Given the description of an element on the screen output the (x, y) to click on. 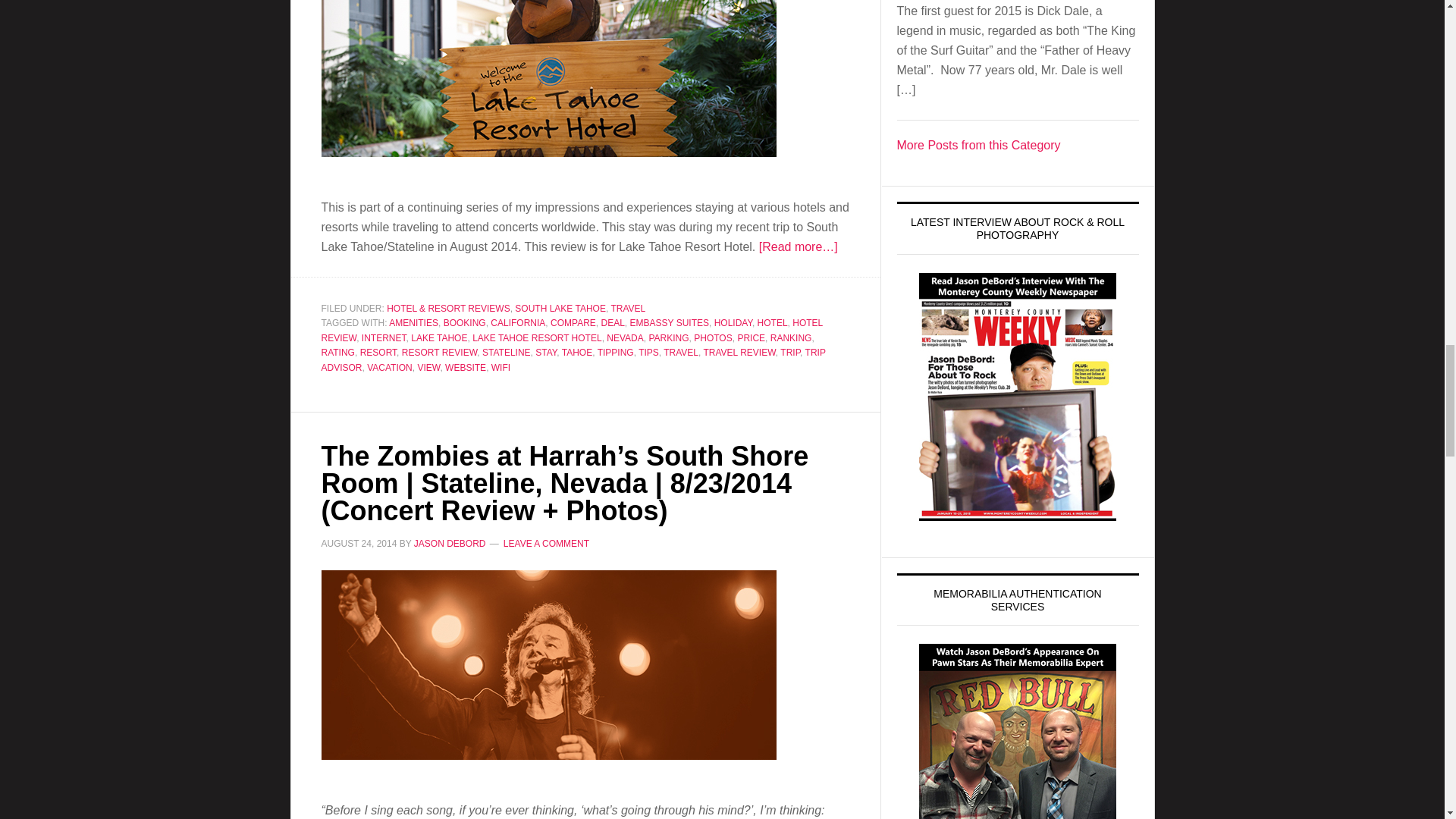
"Rock Talk" Podcast Interviews (977, 144)
